Given the description of an element on the screen output the (x, y) to click on. 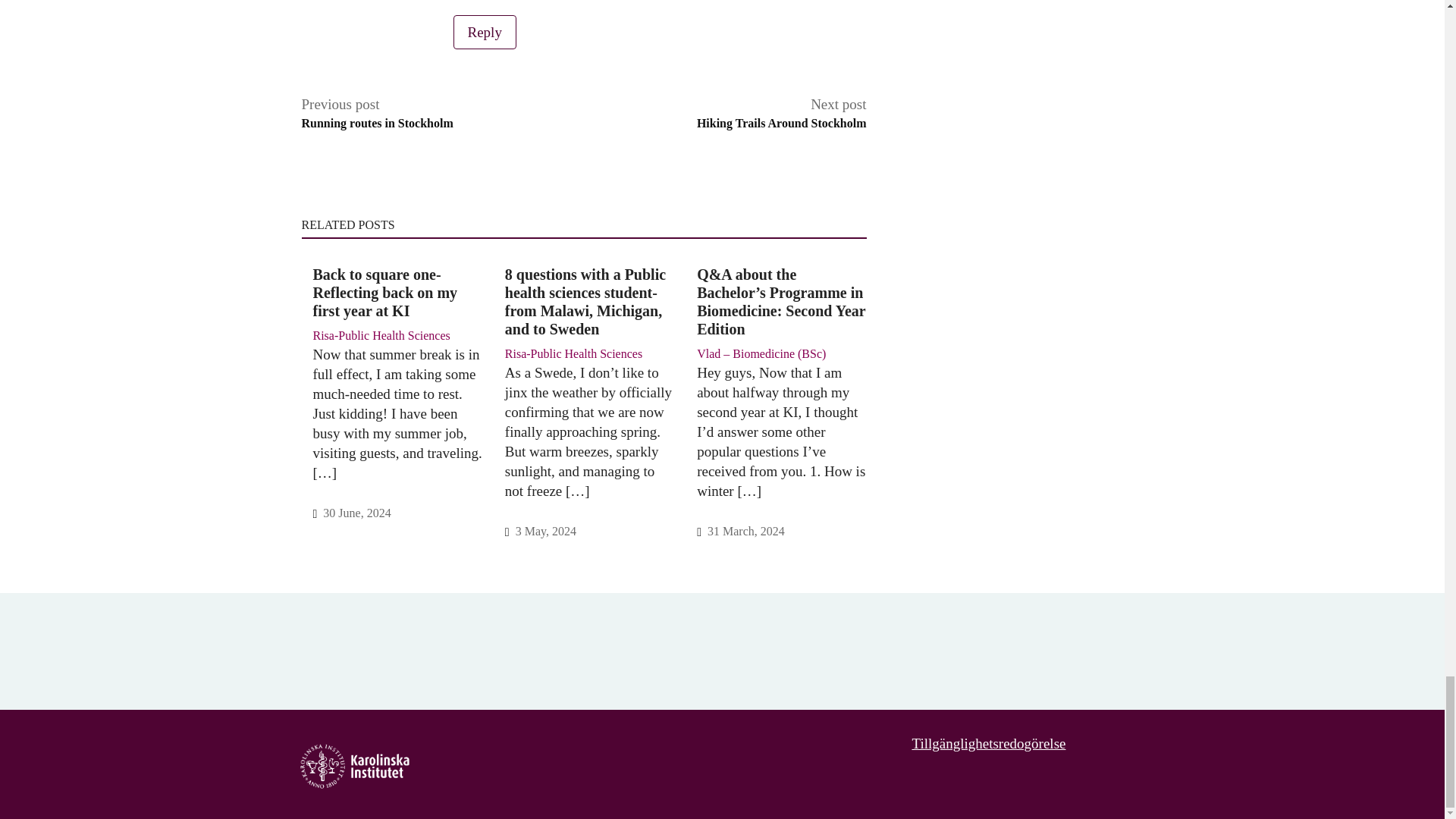
Reply (484, 32)
Back to square one- Reflecting back on my first year at KI (781, 113)
Risa-Public Health Sciences (397, 292)
